Given the description of an element on the screen output the (x, y) to click on. 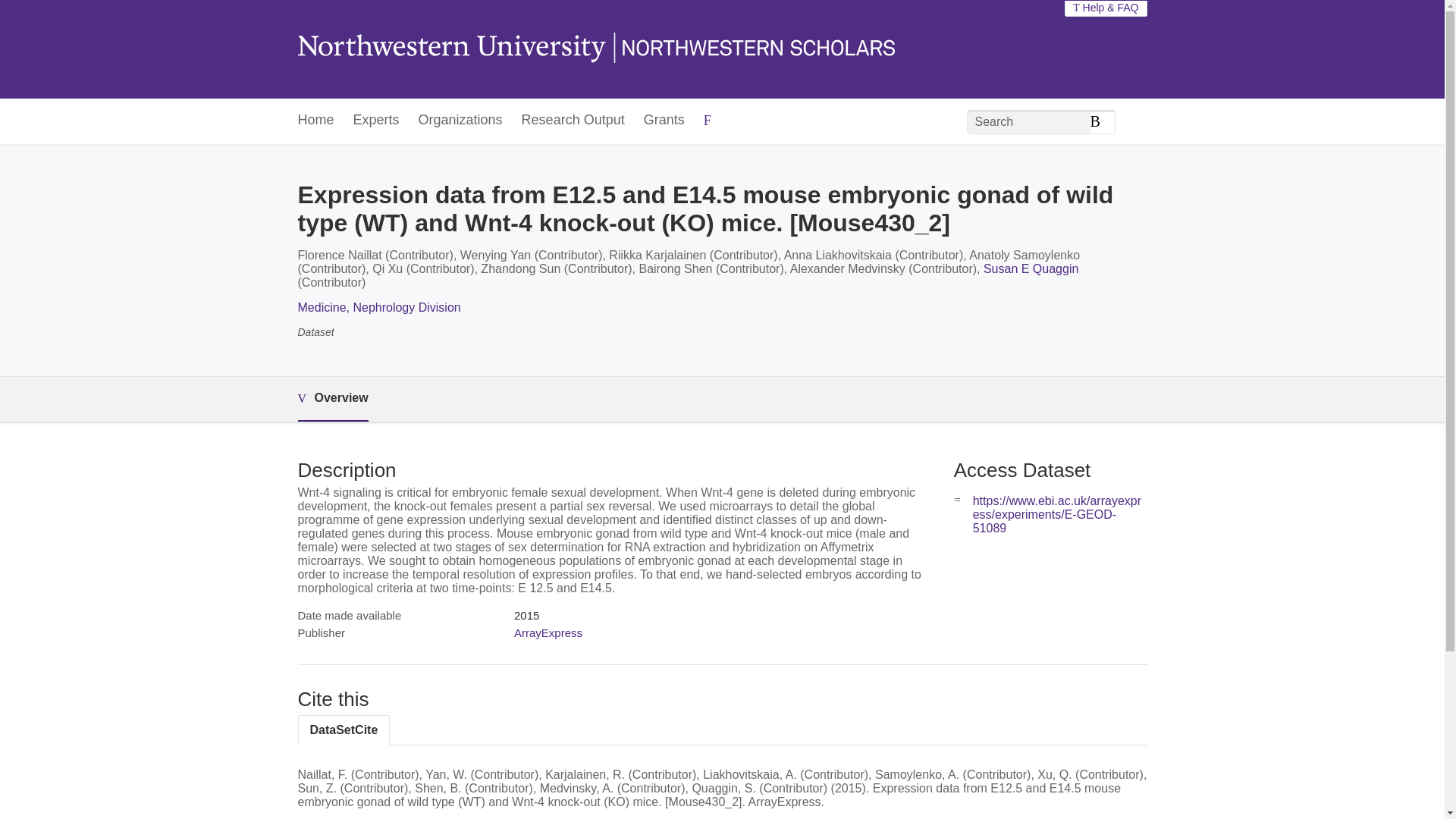
Northwestern Scholars Home (595, 49)
Overview (332, 398)
ArrayExpress (547, 632)
Grants (663, 120)
Experts (375, 120)
Research Output (572, 120)
Organizations (460, 120)
Medicine, Nephrology Division (378, 307)
Susan E Quaggin (1031, 268)
